Given the description of an element on the screen output the (x, y) to click on. 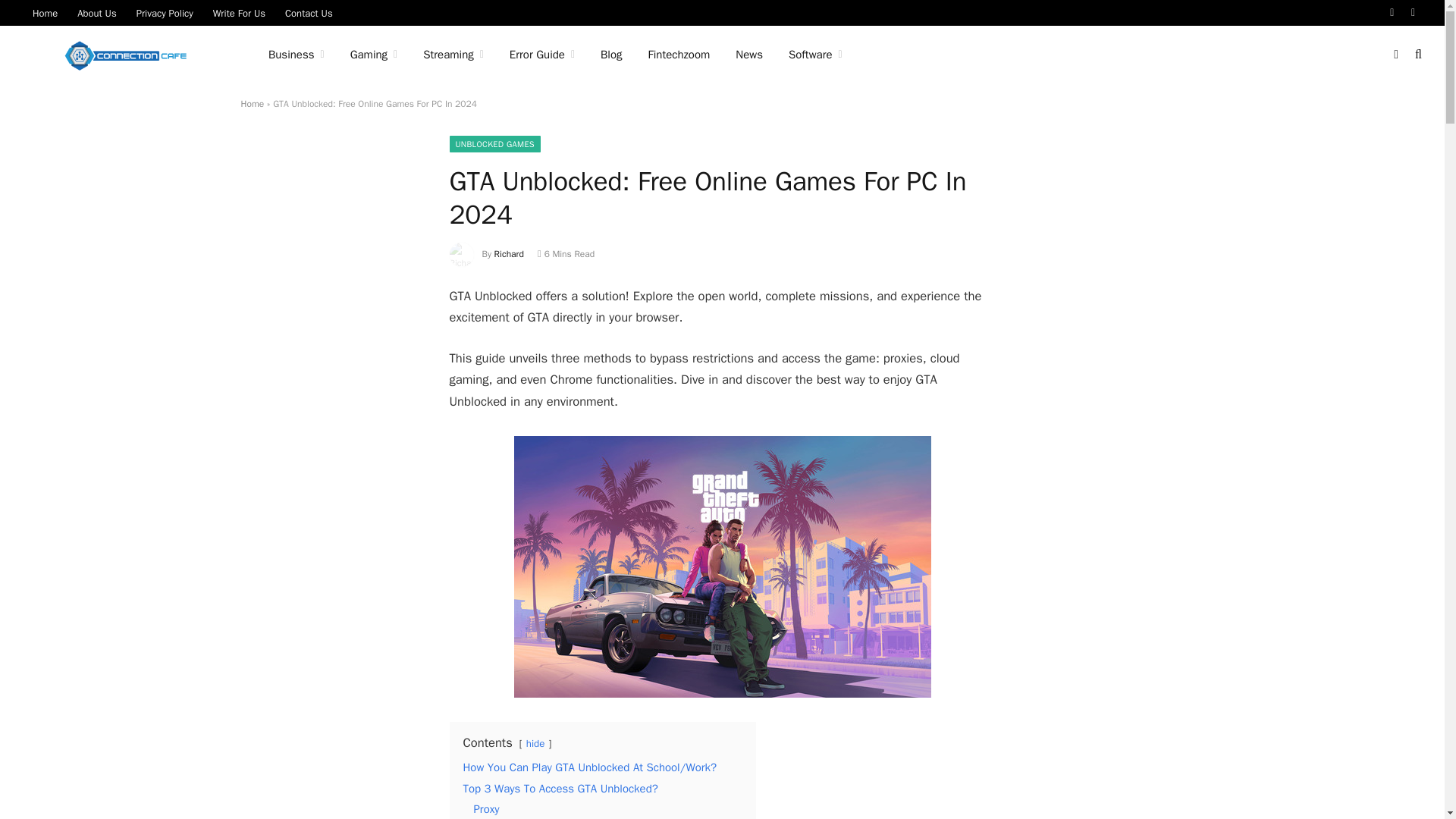
Home (44, 12)
Switch to Dark Design - easier on eyes. (1396, 54)
Error Guide (542, 54)
Fintechzoom (678, 54)
Connection Cafe (125, 54)
UNBLOCKED GAMES (494, 143)
Gaming (373, 54)
Write For Us (239, 12)
Business (296, 54)
Home (252, 103)
